Given the description of an element on the screen output the (x, y) to click on. 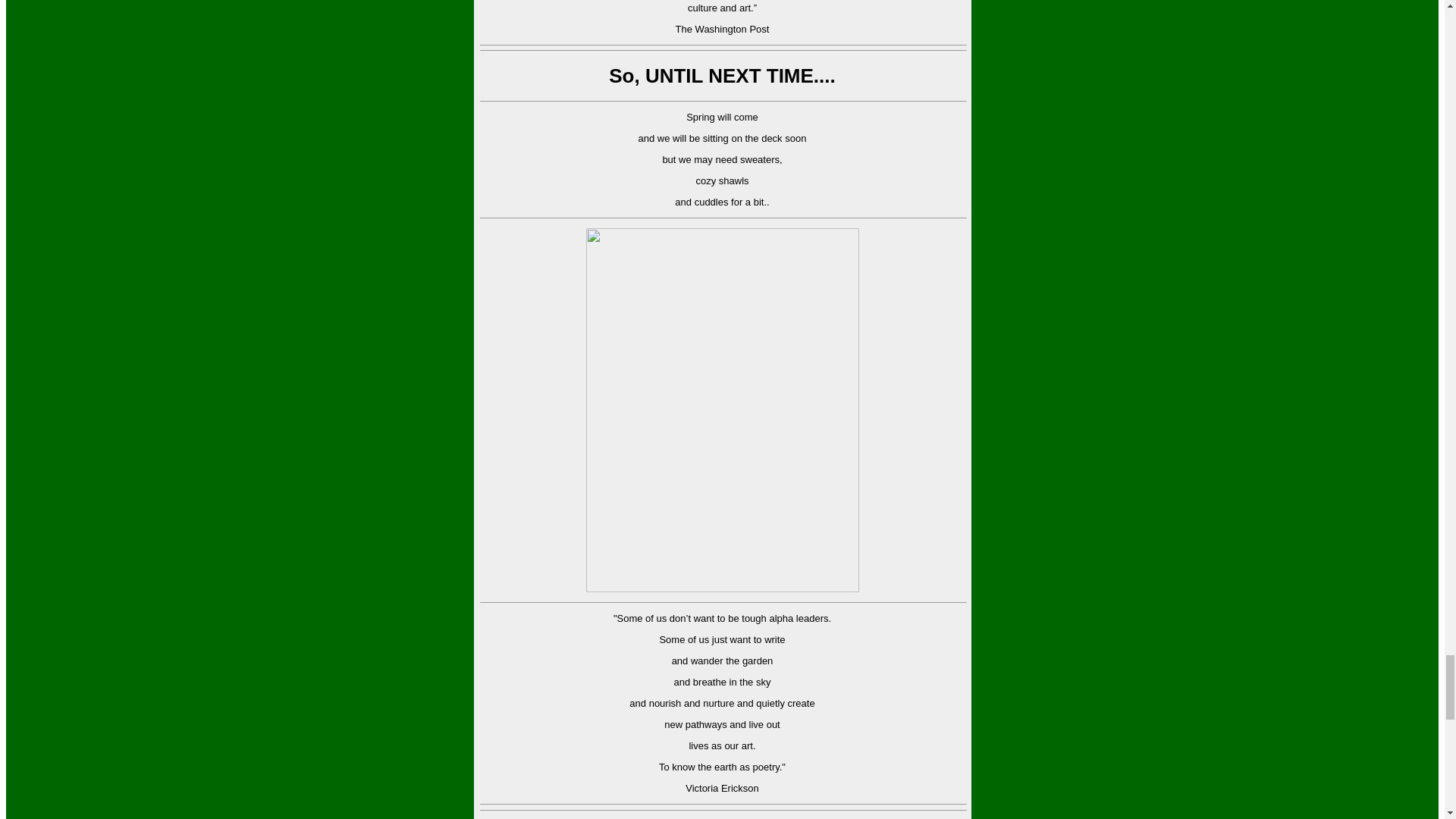
lucy getting cuddles on the deck (722, 410)
